Given the description of an element on the screen output the (x, y) to click on. 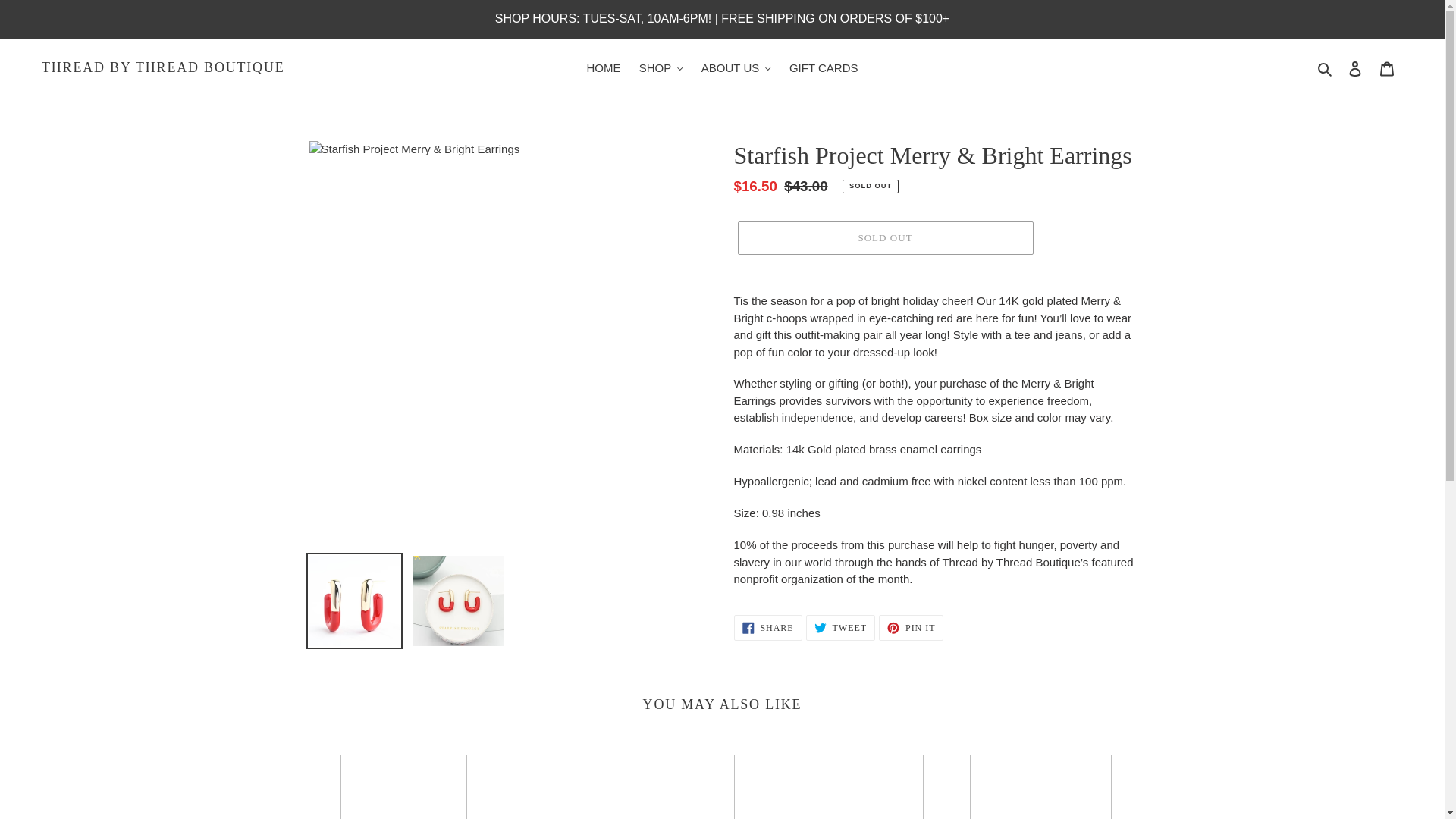
Search (1326, 67)
SHOP (660, 68)
GIFT CARDS (823, 68)
HOME (602, 68)
Log in (1355, 68)
THREAD BY THREAD BOUTIQUE (162, 67)
Cart (1387, 68)
ABOUT US (736, 68)
